Given the description of an element on the screen output the (x, y) to click on. 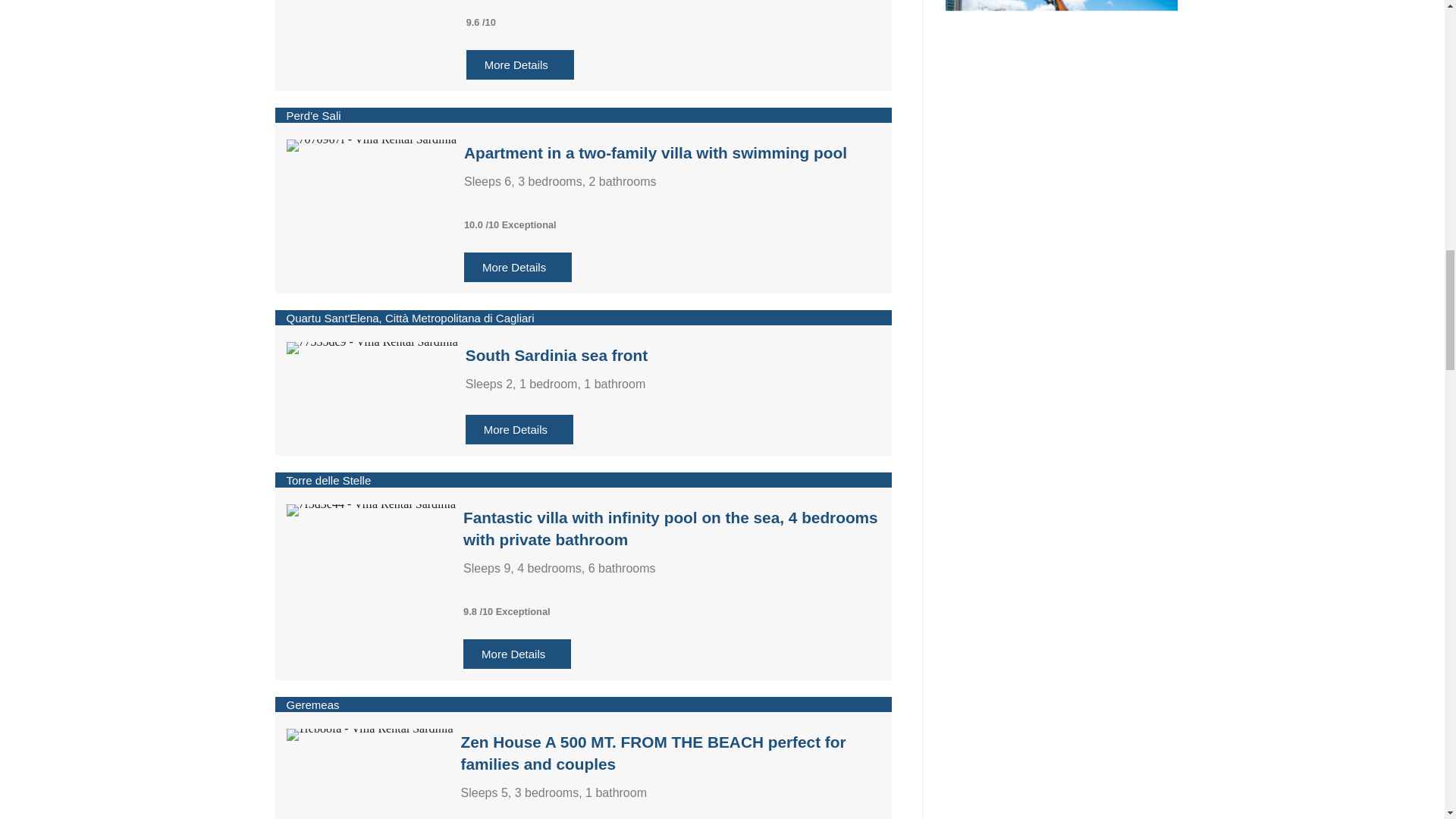
Villa Rental Cagliari - Villas Sardinia (371, 510)
Villa Rental Cagliari - Villas Sardinia (371, 145)
Villa Rental Cagliari - Villas Sardinia (369, 734)
Villa Rental Cagliari - Villas Sardinia (372, 347)
